Given the description of an element on the screen output the (x, y) to click on. 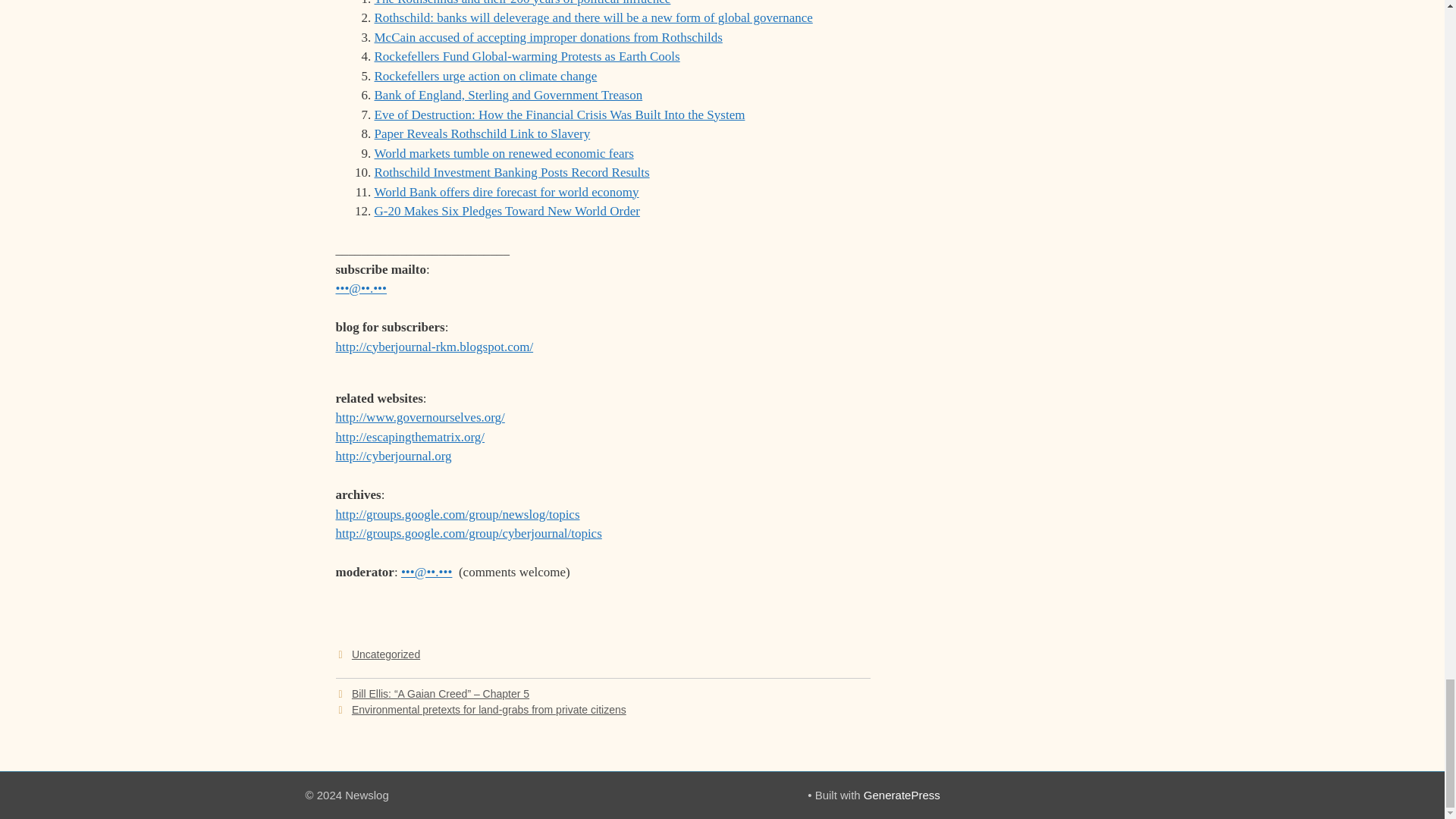
Rockefellers Fund Global-warming Protests as Earth Cools (526, 56)
Uncategorized (386, 654)
Bank of England, Sterling and Government Treason (508, 94)
World markets tumble on renewed economic fears (503, 153)
The Rothschilds and their 200 years of political influence (522, 2)
Permanent Link: Rockefellers urge action on climate change (485, 75)
